Given the description of an element on the screen output the (x, y) to click on. 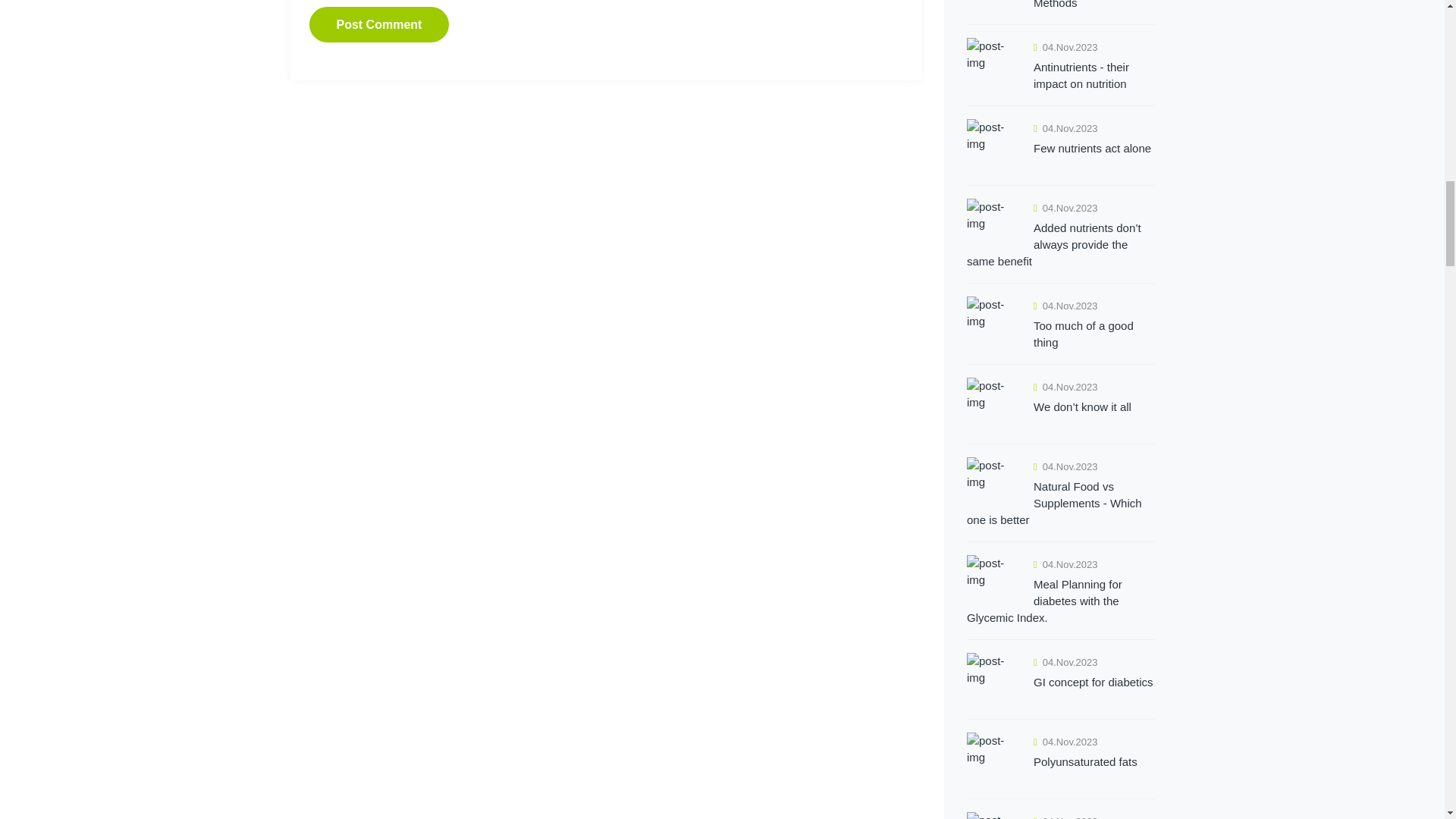
Combination of Methods (1060, 5)
Post Comment (378, 23)
Post Comment (378, 23)
